Given the description of an element on the screen output the (x, y) to click on. 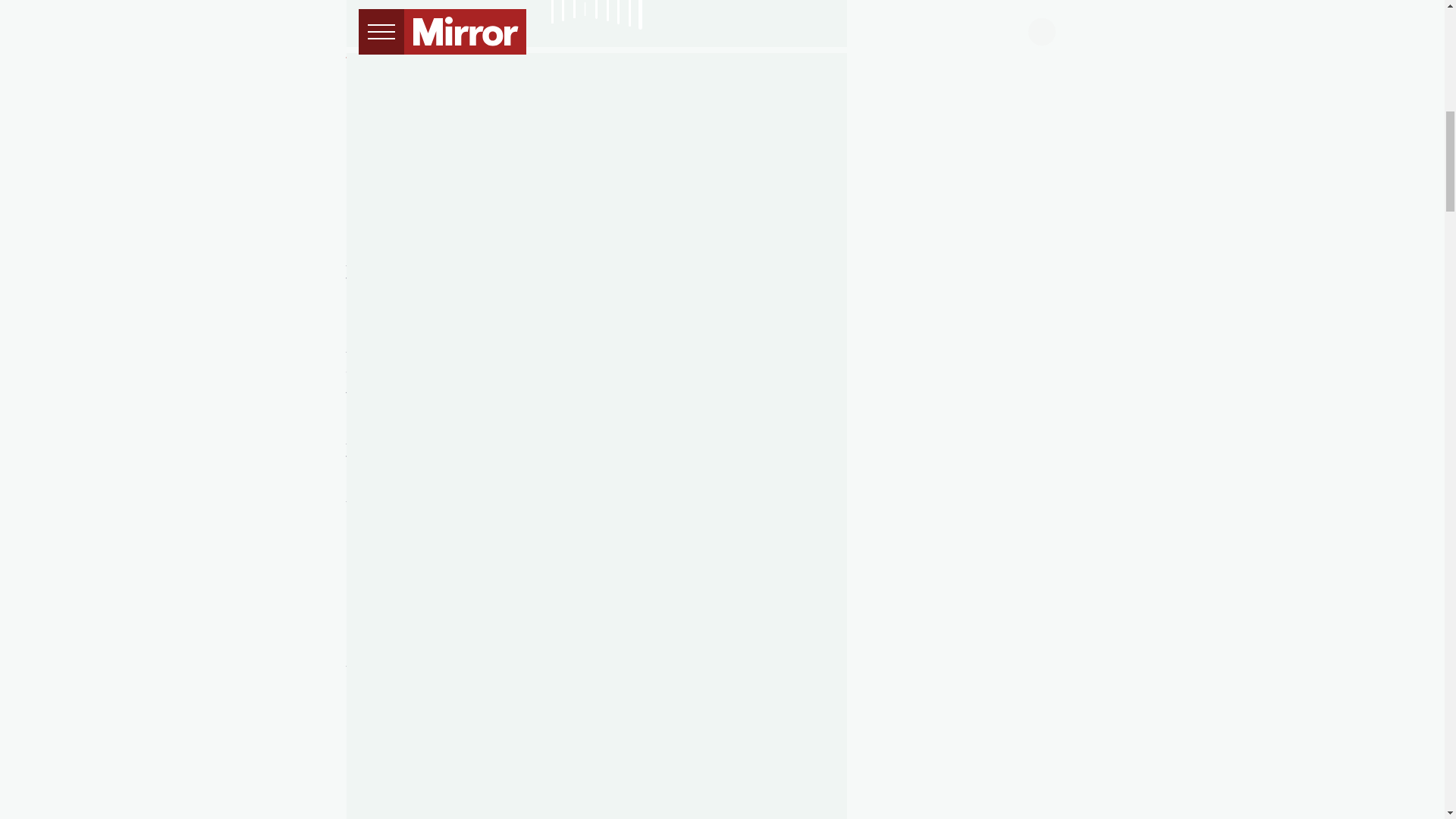
Tom Huddlestone (657, 61)
Bournemouth, (732, 631)
snubbed Villa in favour of a move to Everton. (593, 288)
Hull (803, 61)
Tim Sherwood (389, 61)
planned a summer swoop (510, 152)
Aston Villa (379, 106)
